Given the description of an element on the screen output the (x, y) to click on. 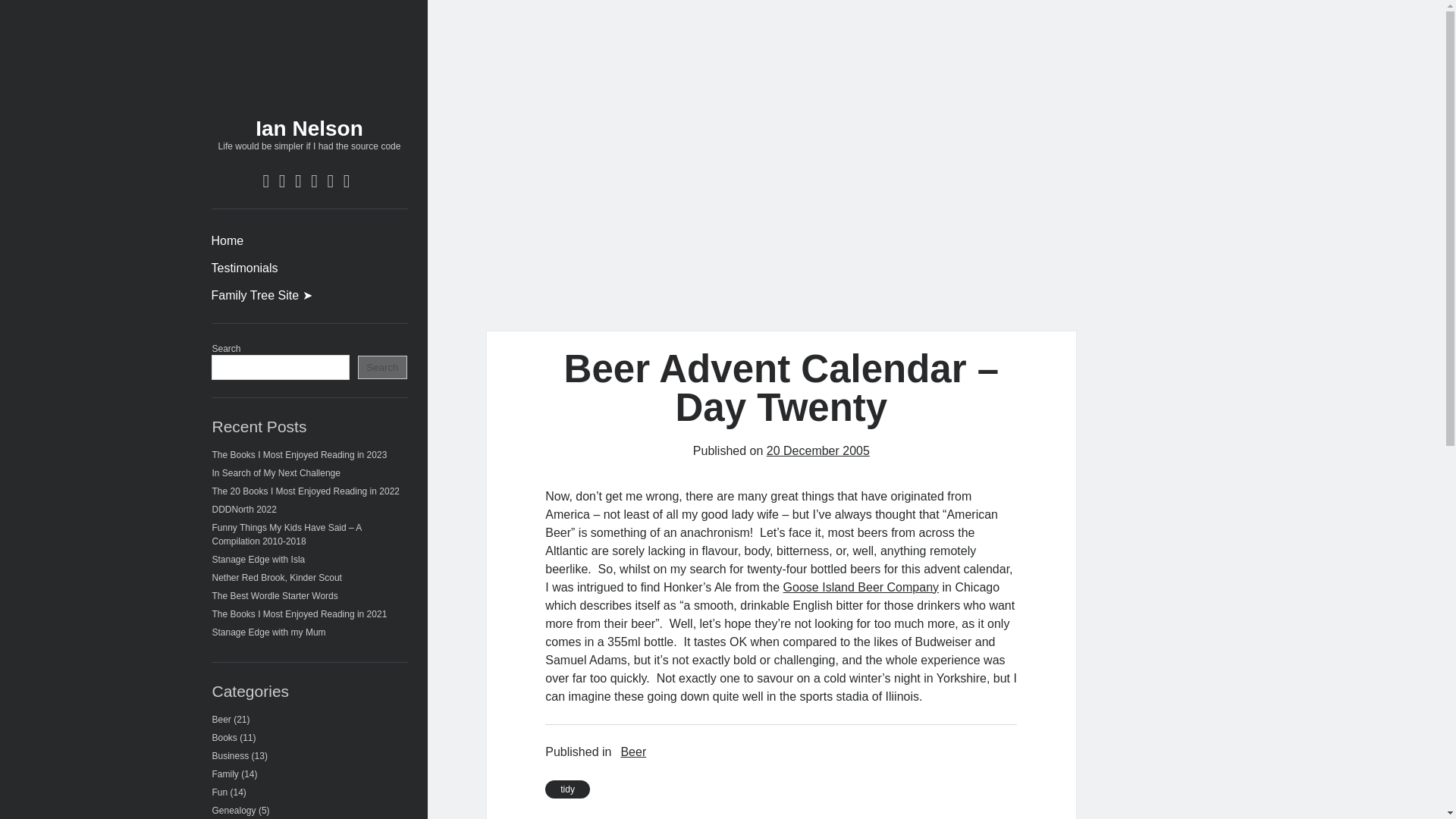
DDDNorth 2022 (244, 509)
Books (224, 737)
Beer (221, 719)
Ian Nelson (309, 128)
Search (382, 367)
View all posts tagged tidy (566, 789)
Testimonials (244, 268)
In Search of My Next Challenge (276, 472)
View all posts in Beer (633, 751)
Family (225, 774)
Nether Red Brook, Kinder Scout (277, 577)
The Books I Most Enjoyed Reading in 2021 (299, 614)
Fun (220, 792)
Stanage Edge with my Mum (269, 632)
The 20 Books I Most Enjoyed Reading in 2022 (306, 491)
